Given the description of an element on the screen output the (x, y) to click on. 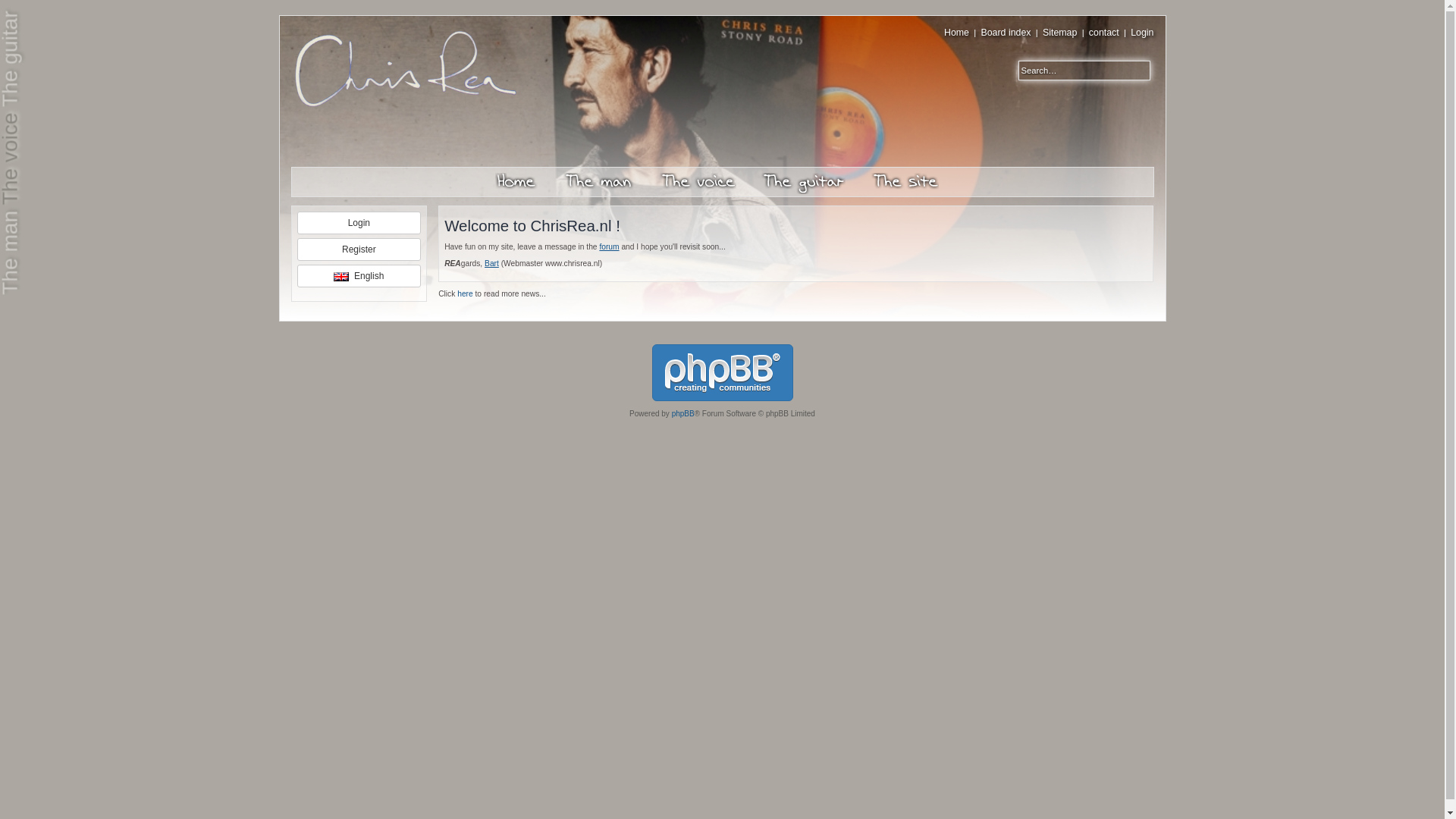
Login (1142, 32)
Home (956, 32)
Search for keywords (1075, 70)
Board index (1004, 32)
Login (1142, 32)
contact (1104, 32)
Sitemap (1059, 32)
